Given the description of an element on the screen output the (x, y) to click on. 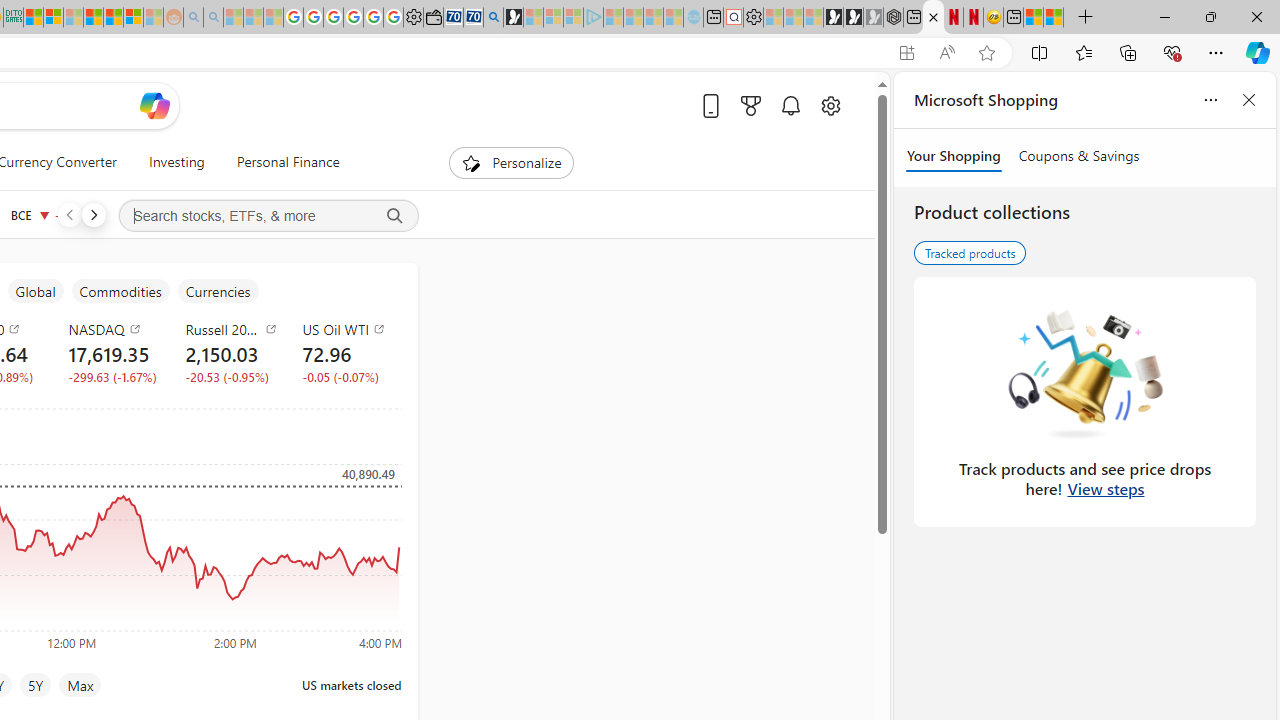
Wildlife - MSN (1033, 17)
Russell 2000 RUT decrease 2,150.03 -20.53 -0.95% (228, 351)
5Y (35, 684)
Personal Finance (287, 162)
